Given the description of an element on the screen output the (x, y) to click on. 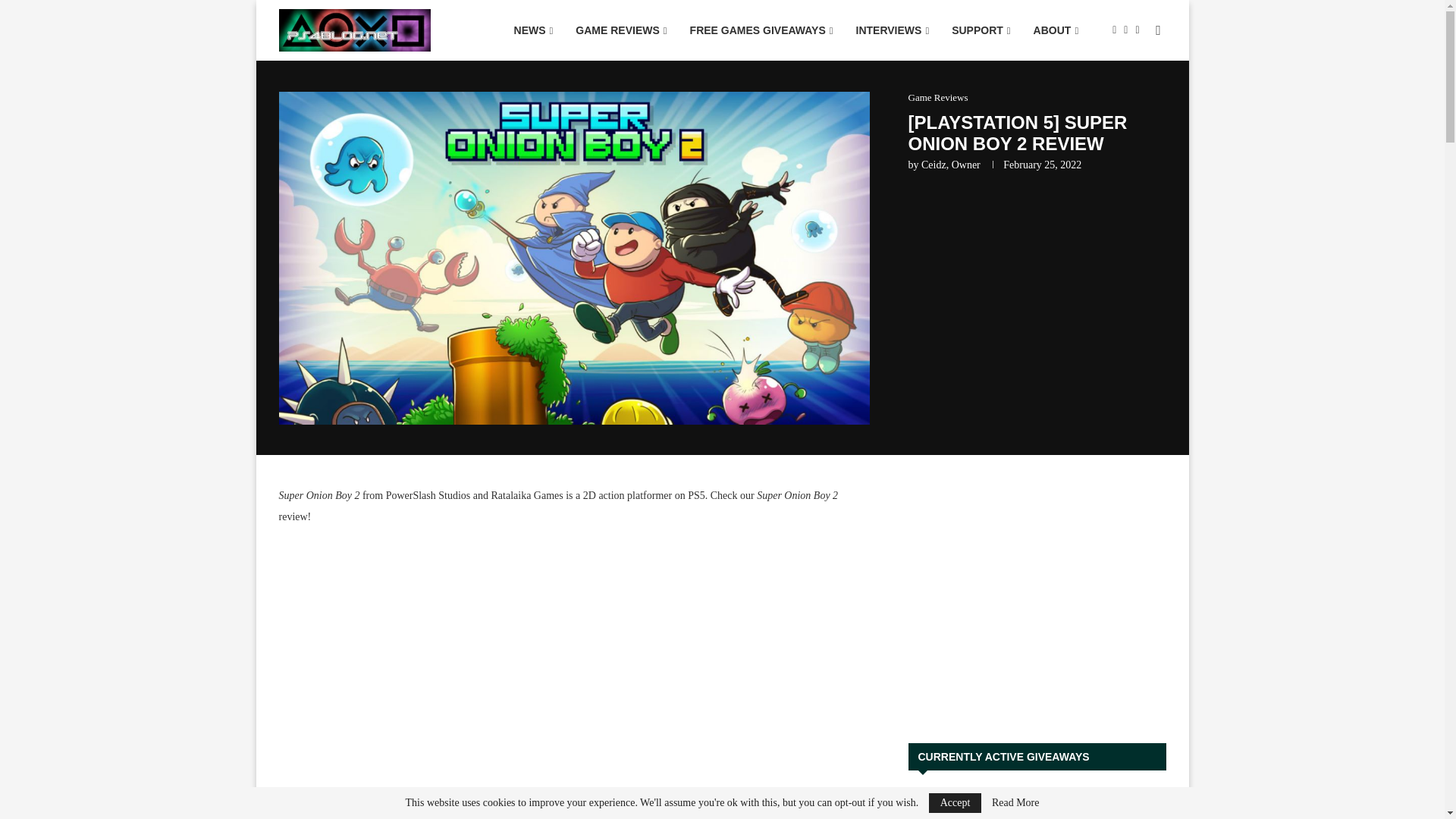
INTERVIEWS (892, 30)
NEWS (533, 30)
FREE GAMES GIVEAWAYS (761, 30)
GAME REVIEWS (621, 30)
